Given the description of an element on the screen output the (x, y) to click on. 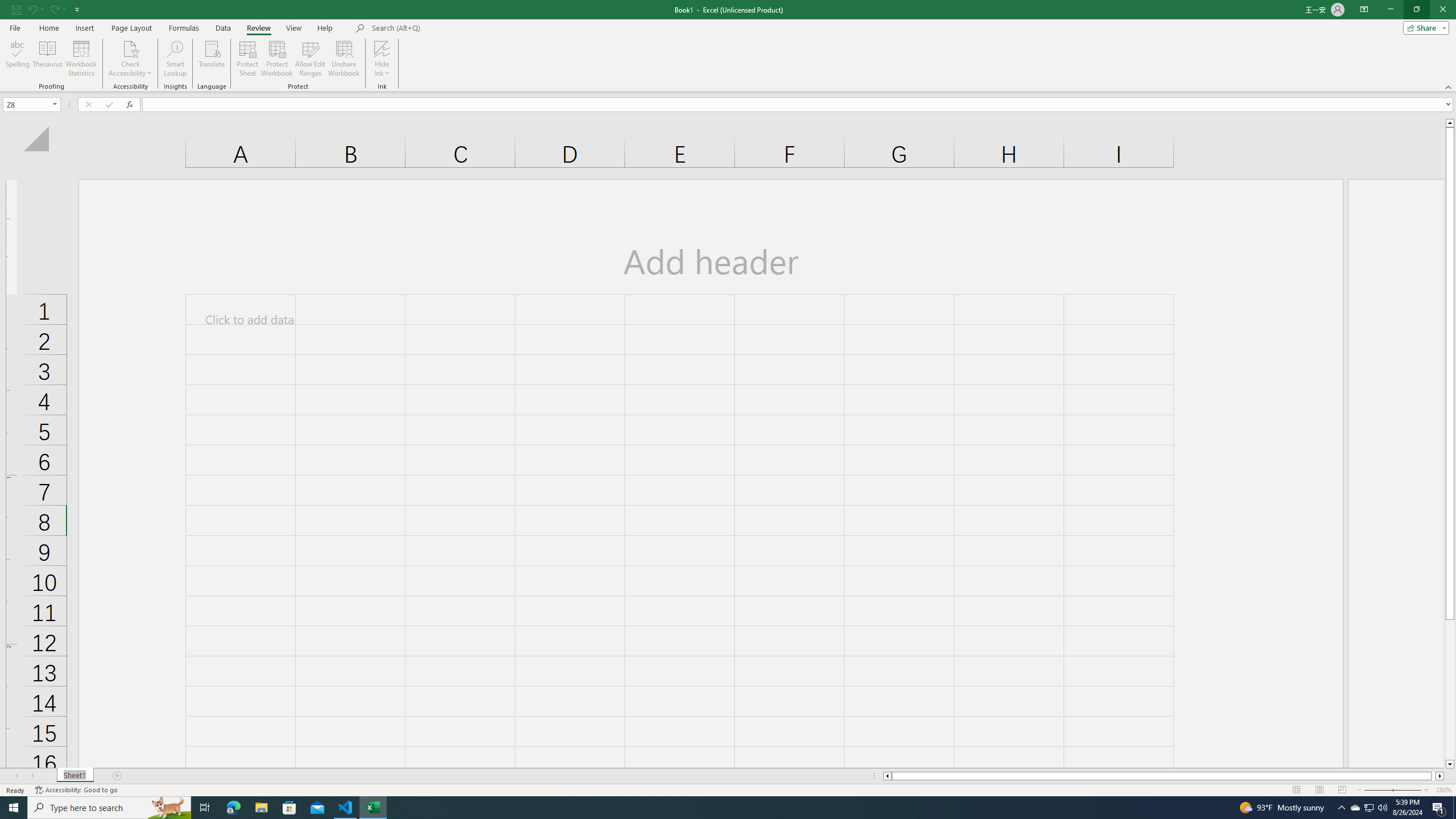
Sheet Tab (74, 775)
